Given the description of an element on the screen output the (x, y) to click on. 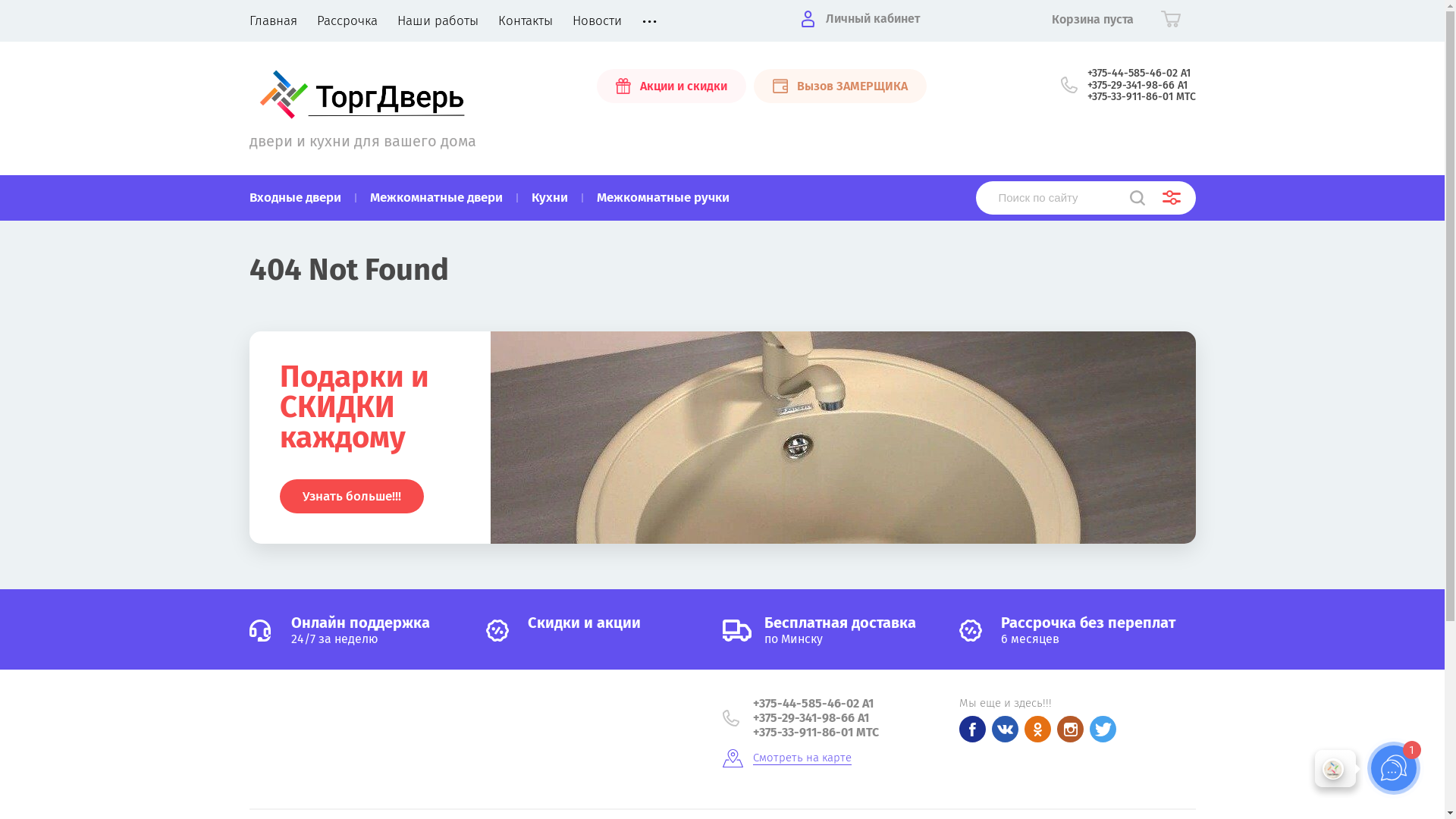
amoCRM Live Chat Element type: hover (1280, 772)
